Given the description of an element on the screen output the (x, y) to click on. 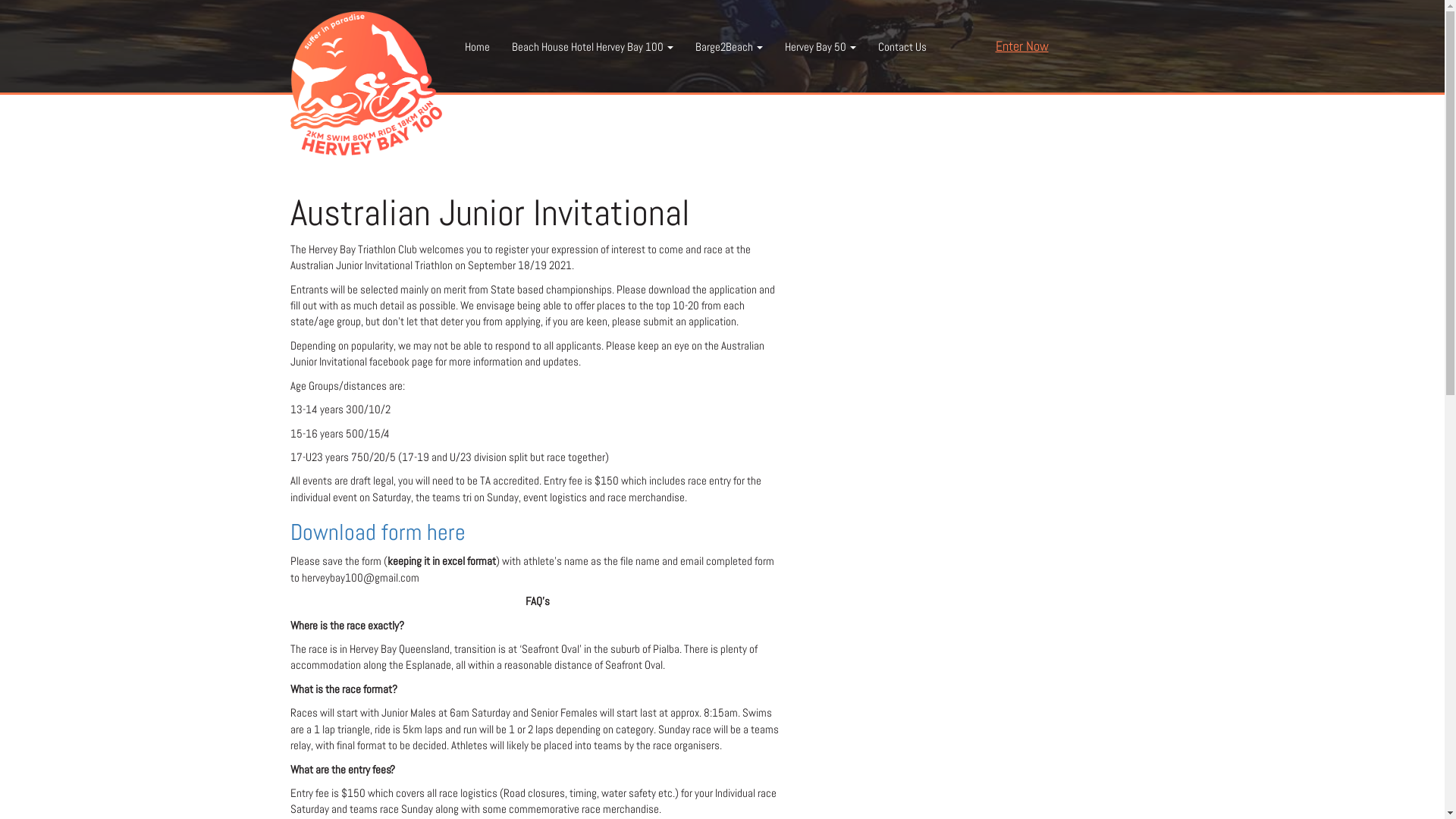
Hervey Bay 50 Element type: text (819, 46)
Contact Us Element type: text (902, 46)
Download form here Element type: text (376, 531)
Home Element type: text (476, 46)
Beach House Hotel Hervey Bay 100 Element type: text (592, 46)
Barge2Beach Element type: text (728, 46)
Enter Now Element type: text (1021, 45)
